Given the description of an element on the screen output the (x, y) to click on. 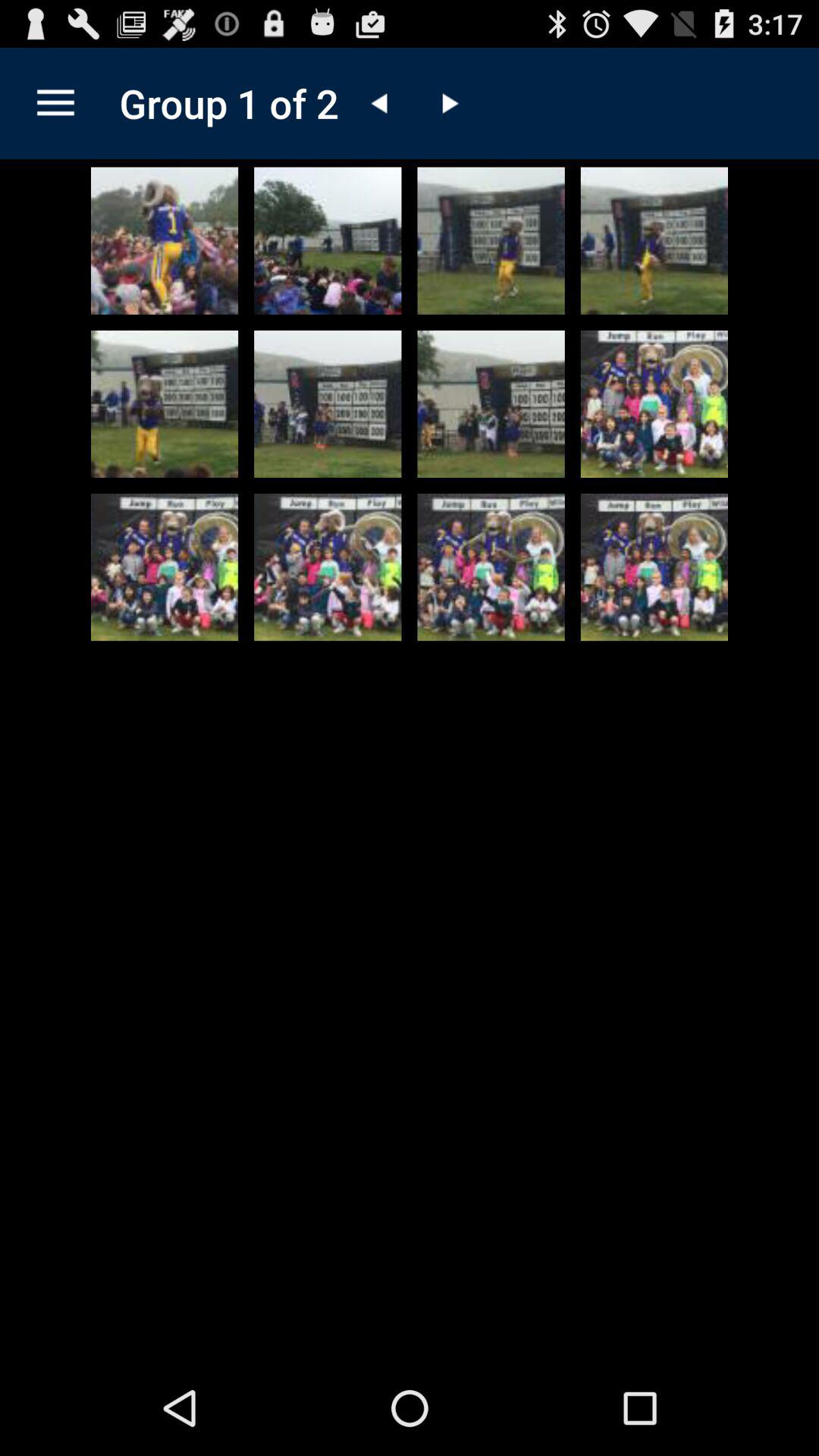
view photo (164, 403)
